Given the description of an element on the screen output the (x, y) to click on. 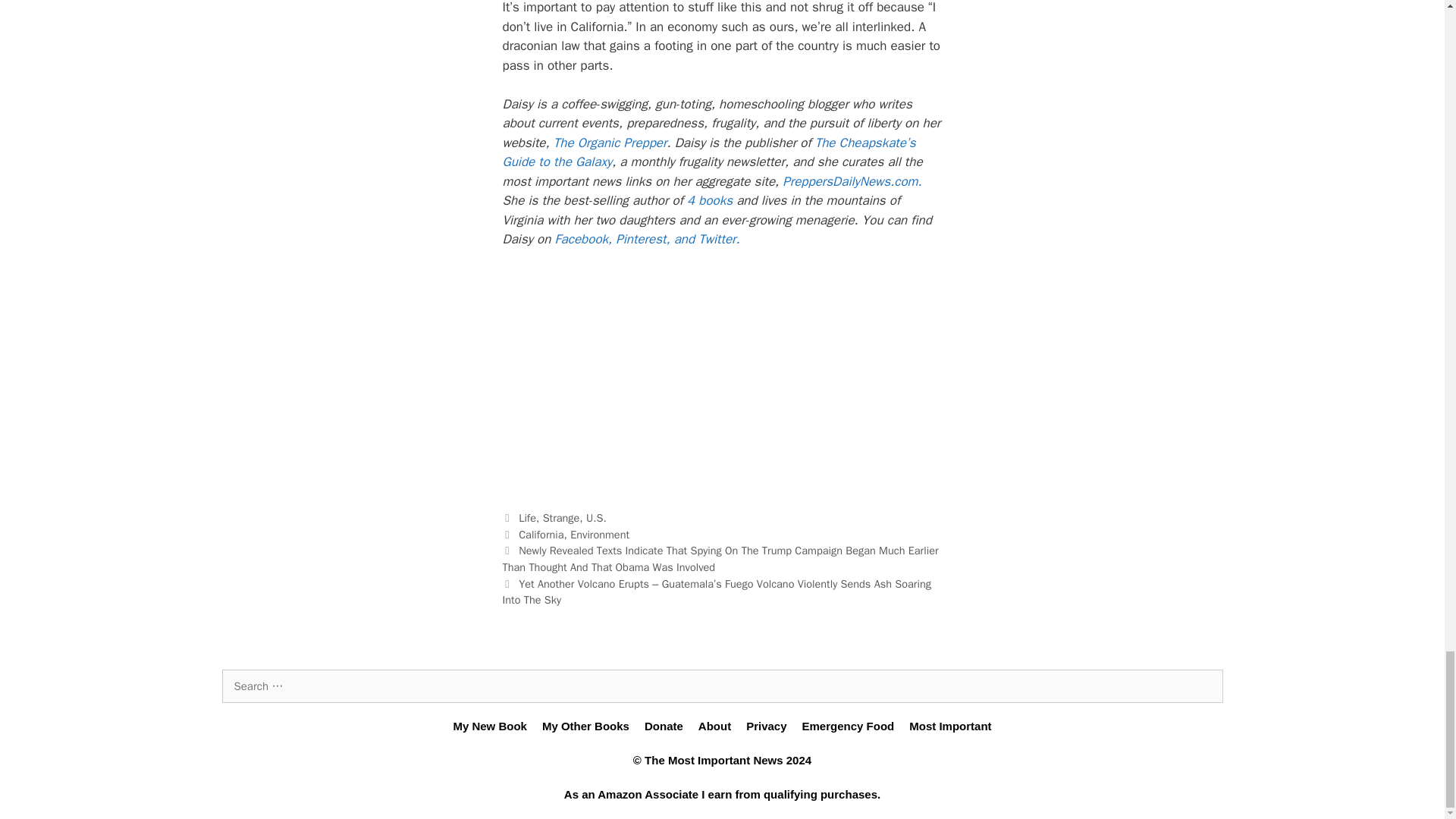
The Organic Prepper (609, 142)
Facebook (581, 238)
Environment (599, 534)
4 books (709, 200)
4 books (709, 200)
Facebook (581, 238)
U.S. (596, 517)
PreppersDailyNews.com. (852, 181)
Life (526, 517)
